Given the description of an element on the screen output the (x, y) to click on. 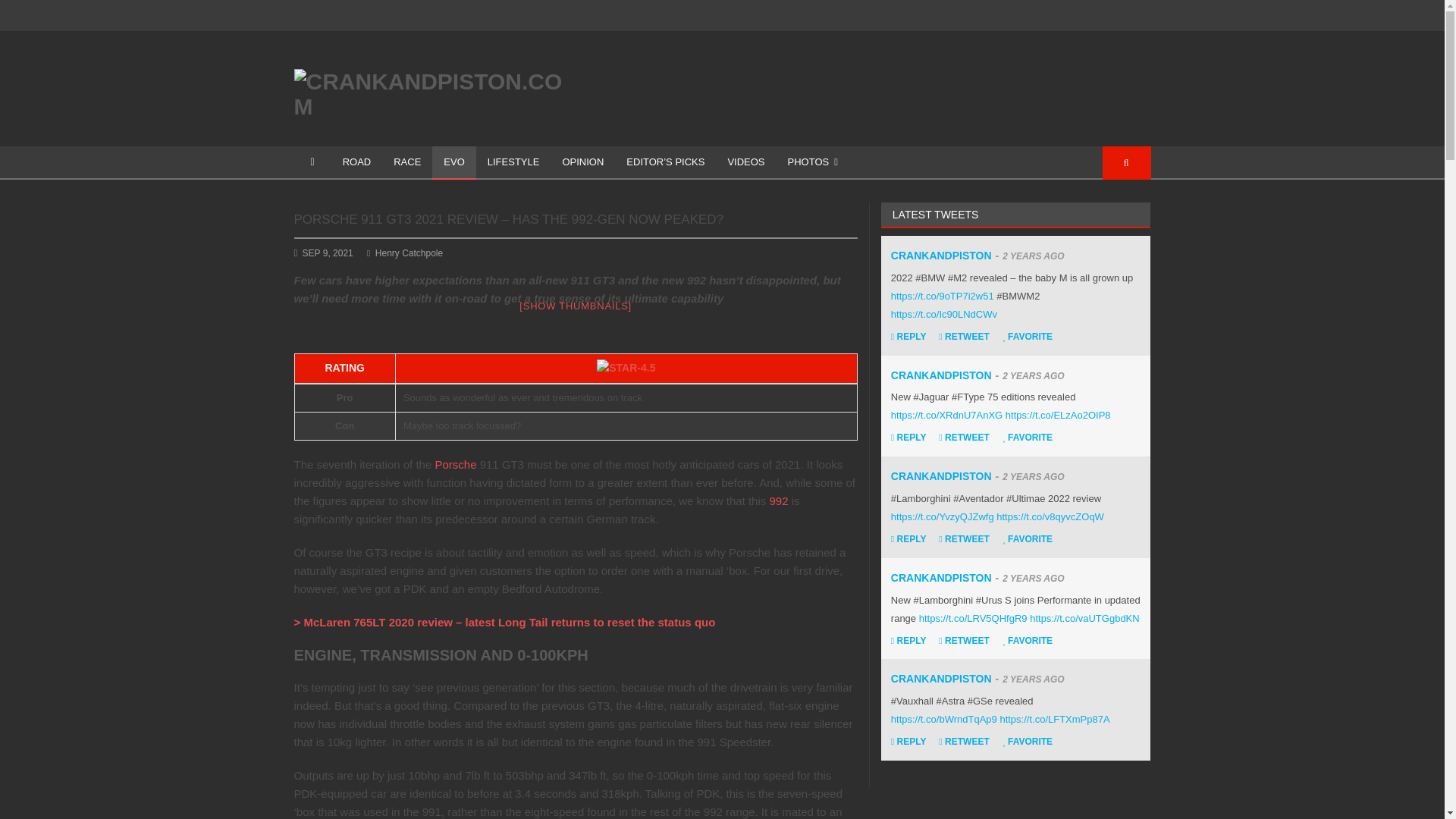
OPINION (582, 162)
Henry Catchpole (404, 253)
ROAD (356, 162)
VIDEOS (746, 162)
PHOTOS (812, 162)
992 (777, 500)
LIFESTYLE (513, 162)
On The Road (356, 162)
EVO (454, 162)
Porsche (454, 463)
Thursday, September 9, 2021, 12:58 pm (327, 253)
RACE (406, 162)
